Given the description of an element on the screen output the (x, y) to click on. 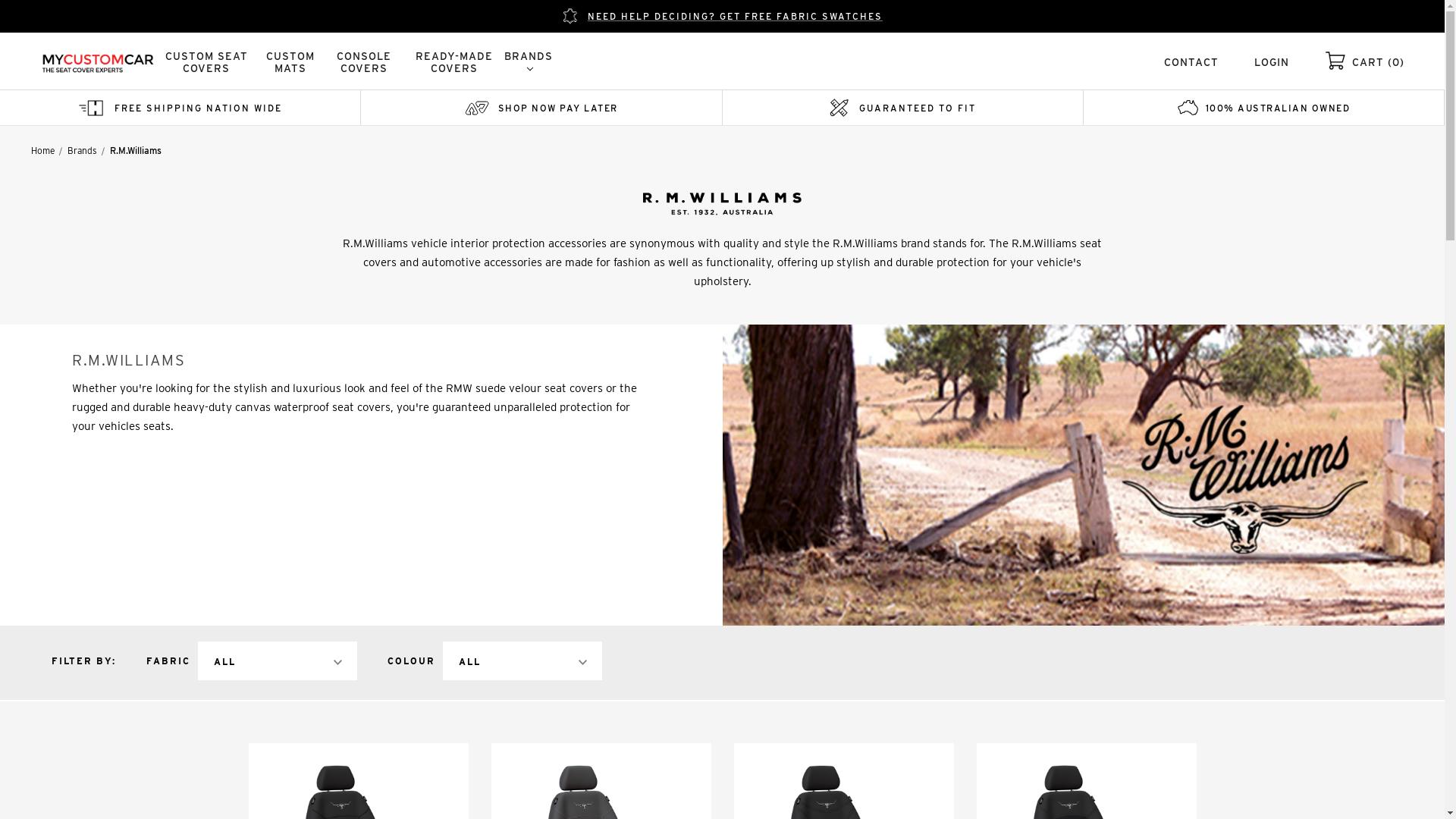
Home Element type: text (42, 150)
NEED HELP DECIDING? GET FREE FABRIC SWATCHES Element type: text (722, 16)
CUSTOM SEAT COVERS Element type: text (205, 62)
CONTACT Element type: text (1191, 62)
CONSOLE COVERS Element type: text (363, 62)
CUSTOM MATS Element type: text (290, 62)
R.M.Williams Element type: hover (1082, 474)
BRANDS Element type: text (528, 62)
CART (0) Element type: text (1378, 62)
LOGIN Element type: text (1271, 62)
READY-MADE COVERS Element type: text (454, 62)
Brands Element type: text (82, 150)
